Given the description of an element on the screen output the (x, y) to click on. 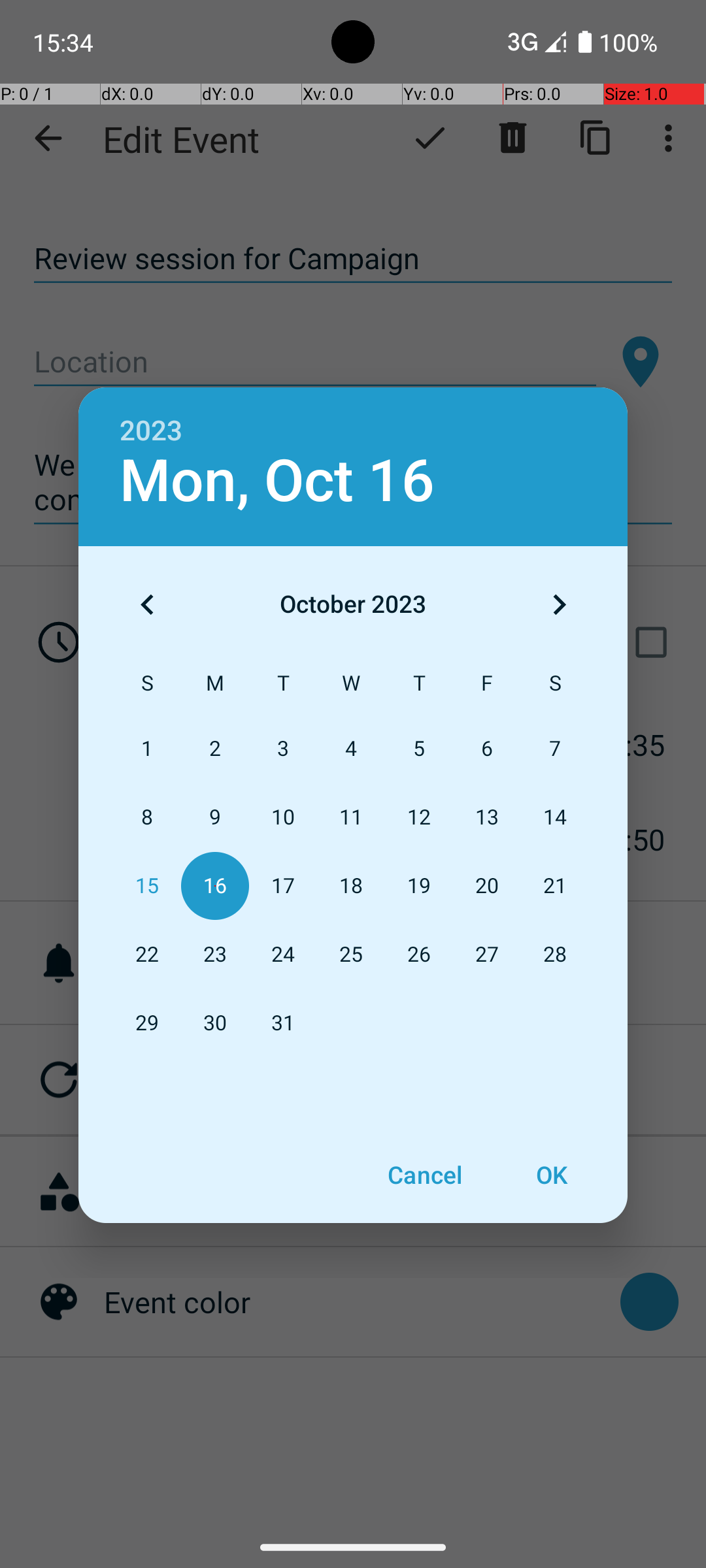
2023 Element type: android.widget.TextView (150, 430)
Mon, Oct 16 Element type: android.widget.TextView (276, 480)
Previous month Element type: android.widget.ImageButton (146, 604)
Next month Element type: android.widget.ImageButton (558, 604)
11 Element type: android.view.View (351, 817)
12 Element type: android.view.View (419, 817)
13 Element type: android.view.View (487, 817)
14 Element type: android.view.View (554, 817)
16 Element type: android.view.View (215, 885)
17 Element type: android.view.View (283, 885)
18 Element type: android.view.View (351, 885)
19 Element type: android.view.View (419, 885)
21 Element type: android.view.View (554, 885)
22 Element type: android.view.View (147, 954)
23 Element type: android.view.View (215, 954)
24 Element type: android.view.View (283, 954)
25 Element type: android.view.View (351, 954)
26 Element type: android.view.View (419, 954)
27 Element type: android.view.View (487, 954)
28 Element type: android.view.View (554, 954)
29 Element type: android.view.View (147, 1023)
30 Element type: android.view.View (215, 1023)
31 Element type: android.view.View (283, 1023)
